Given the description of an element on the screen output the (x, y) to click on. 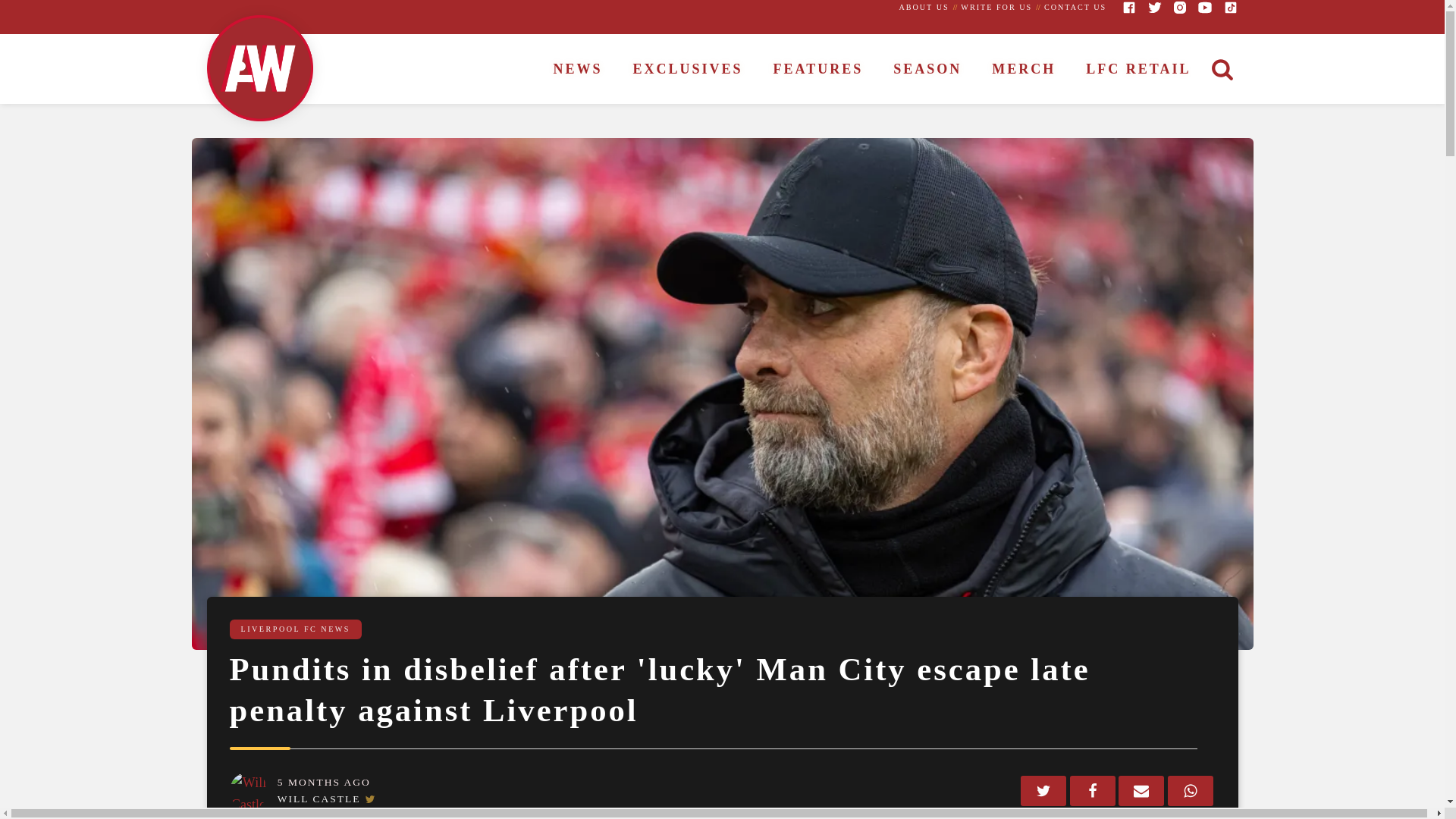
ABOUT US (923, 7)
Search (27, 10)
FEATURES (818, 69)
EXCLUSIVES (687, 69)
WRITE FOR US (996, 7)
MERCH (1023, 69)
WILL CASTLE (319, 799)
NEWS (577, 69)
SEASON (926, 69)
CONTACT US (1074, 7)
